Given the description of an element on the screen output the (x, y) to click on. 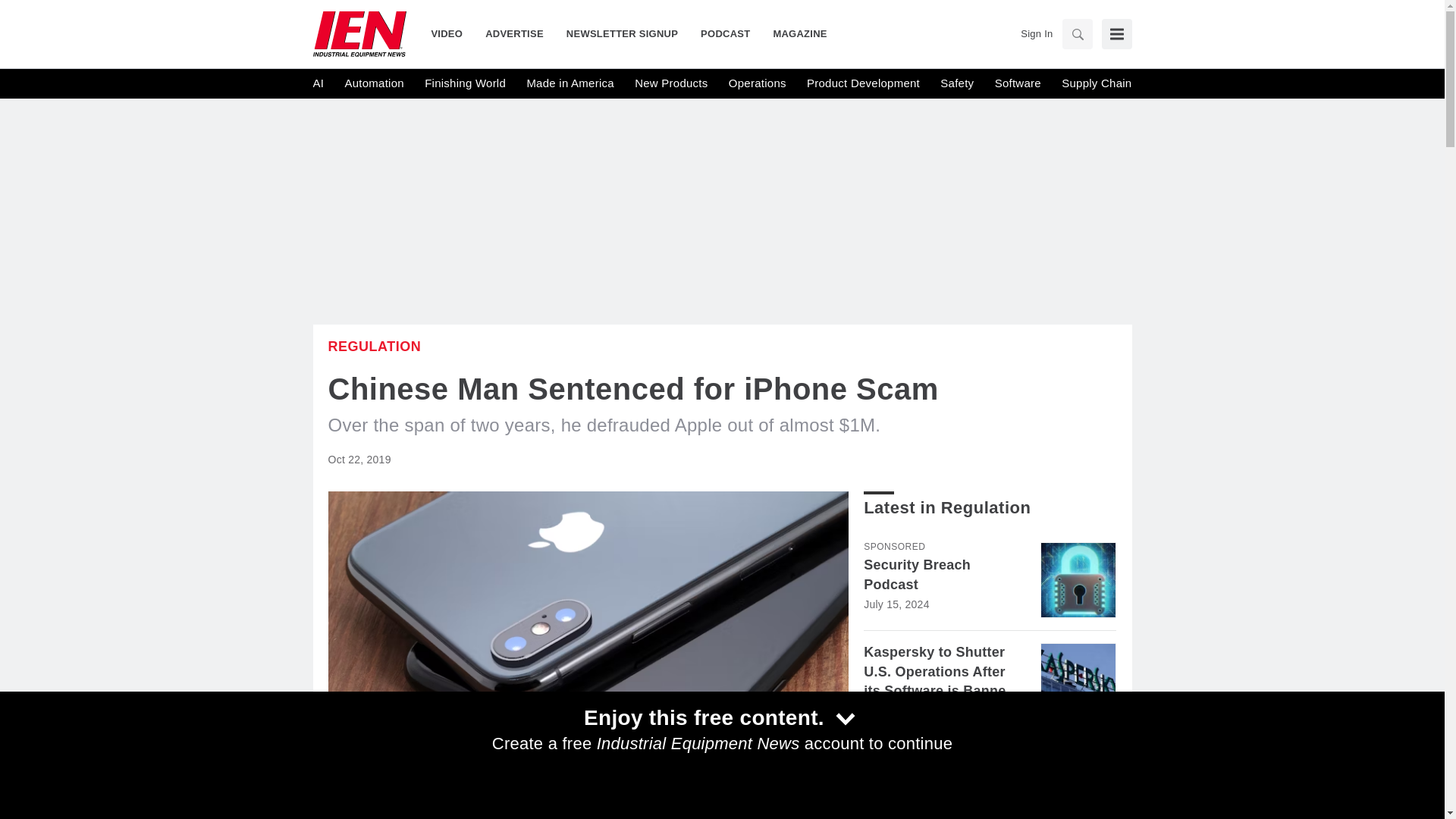
NEWSLETTER SIGNUP (621, 33)
Software (1017, 83)
MAGAZINE (794, 33)
VIDEO (452, 33)
Made in America (568, 83)
Finishing World (465, 83)
Automation (373, 83)
Regulation (373, 345)
Safety (957, 83)
Supply Chain (1096, 83)
Sign In (1036, 33)
ADVERTISE (514, 33)
Sponsored (893, 546)
Product Development (863, 83)
New Products (670, 83)
